Given the description of an element on the screen output the (x, y) to click on. 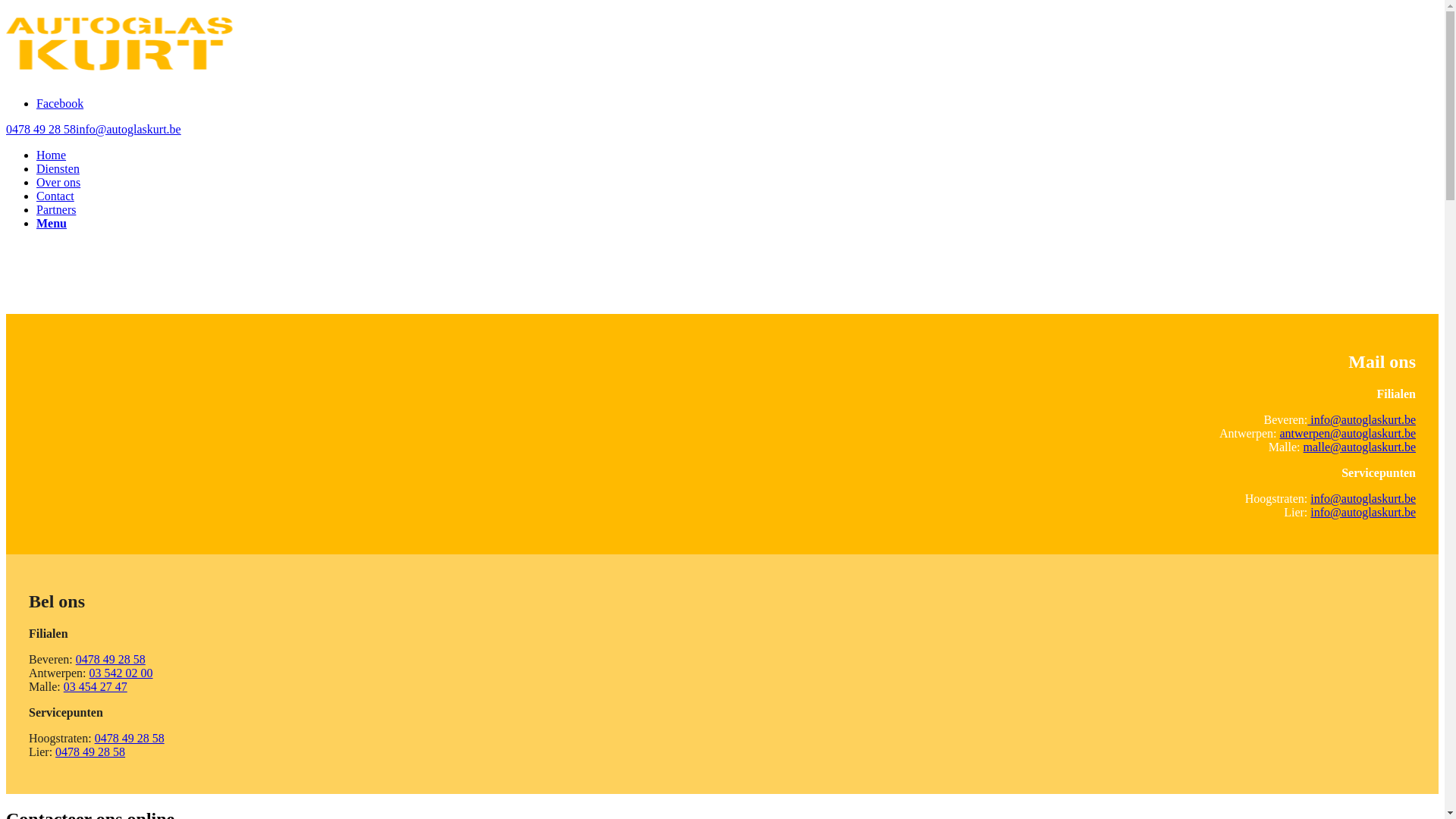
0478 49 28 58 Element type: text (40, 128)
0478 49 28 58 Element type: text (110, 658)
malle@autoglaskurt.be Element type: text (1359, 446)
info@autoglaskurt.be Element type: text (1362, 511)
03 454 27 47 Element type: text (95, 686)
Facebook Element type: text (59, 103)
antwerpen@autoglaskurt.be Element type: text (1347, 432)
Over ons Element type: text (58, 181)
info@autoglaskurt.be Element type: text (128, 128)
0478 49 28 58 Element type: text (90, 751)
Home Element type: text (50, 154)
03 542 02 00 Element type: text (121, 672)
info@autoglaskurt.be Element type: text (1362, 498)
Diensten Element type: text (57, 168)
Menu Element type: text (51, 222)
0478 49 28 58 Element type: text (129, 737)
Partners Element type: text (55, 209)
info@autoglaskurt.be Element type: text (1361, 419)
Contact Element type: text (55, 195)
